Given the description of an element on the screen output the (x, y) to click on. 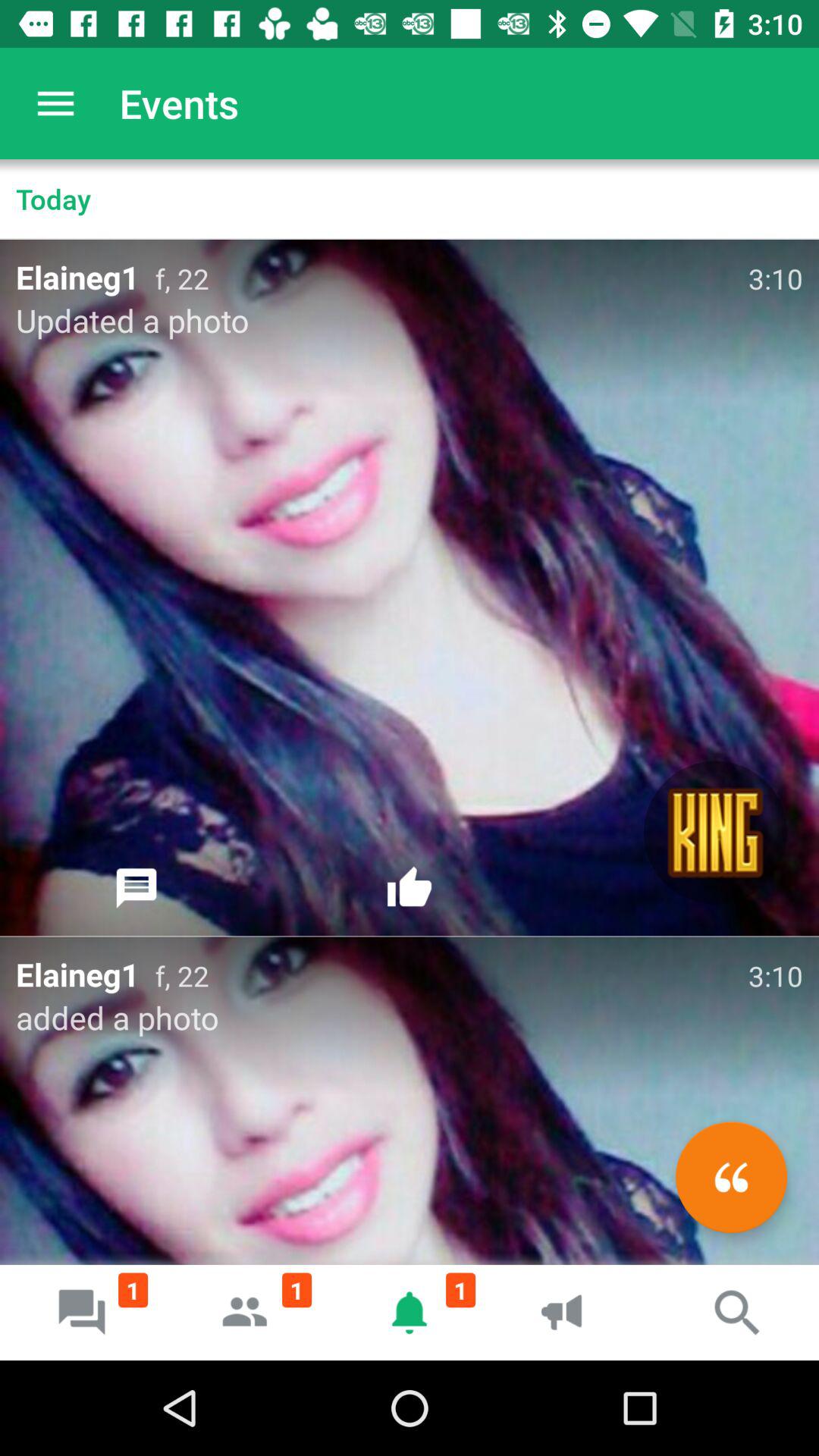
send a message (136, 888)
